Given the description of an element on the screen output the (x, y) to click on. 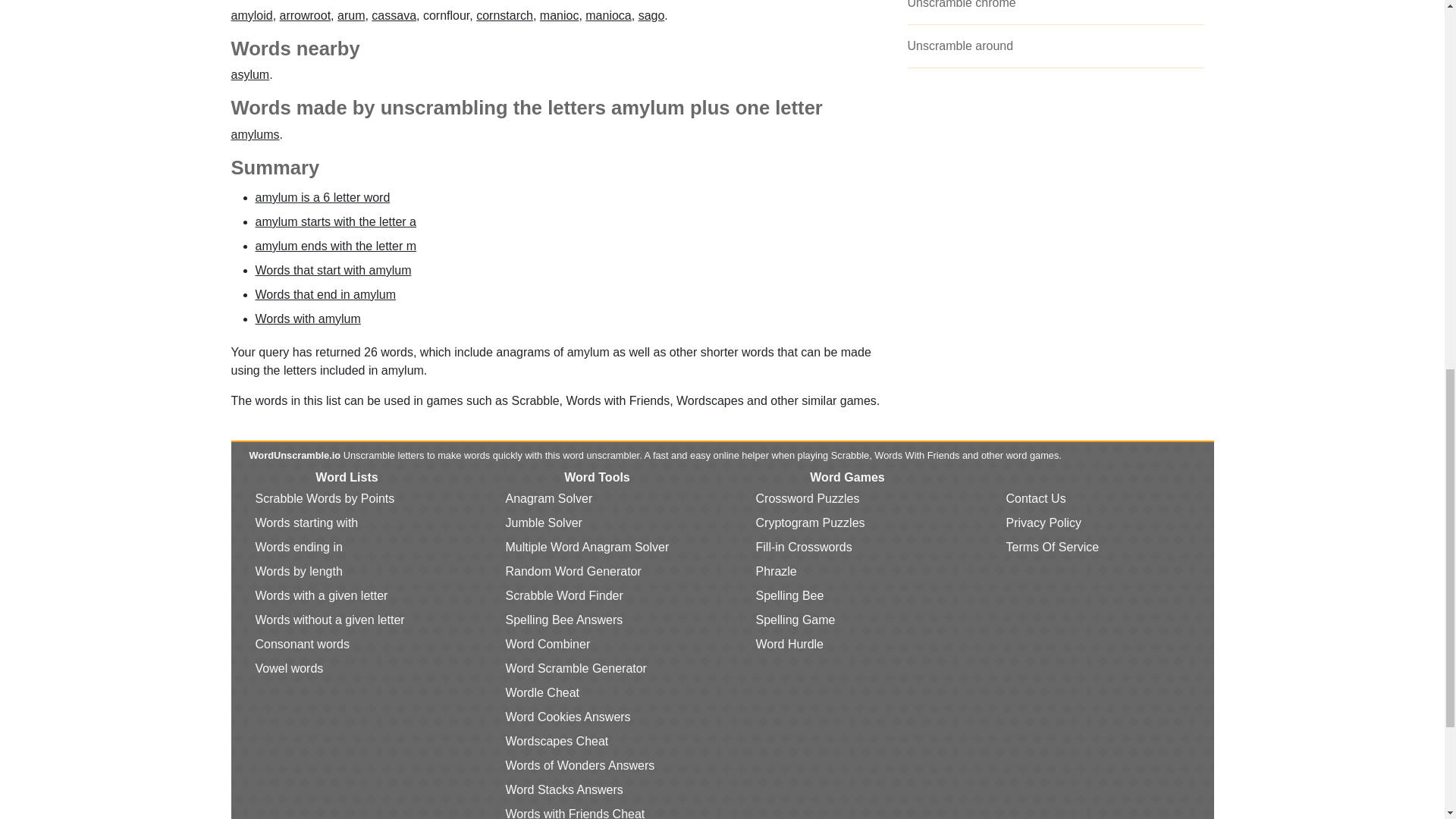
cornstarch (504, 15)
arrowroot (305, 15)
amyloid (251, 15)
arum (351, 15)
cassava (393, 15)
